Given the description of an element on the screen output the (x, y) to click on. 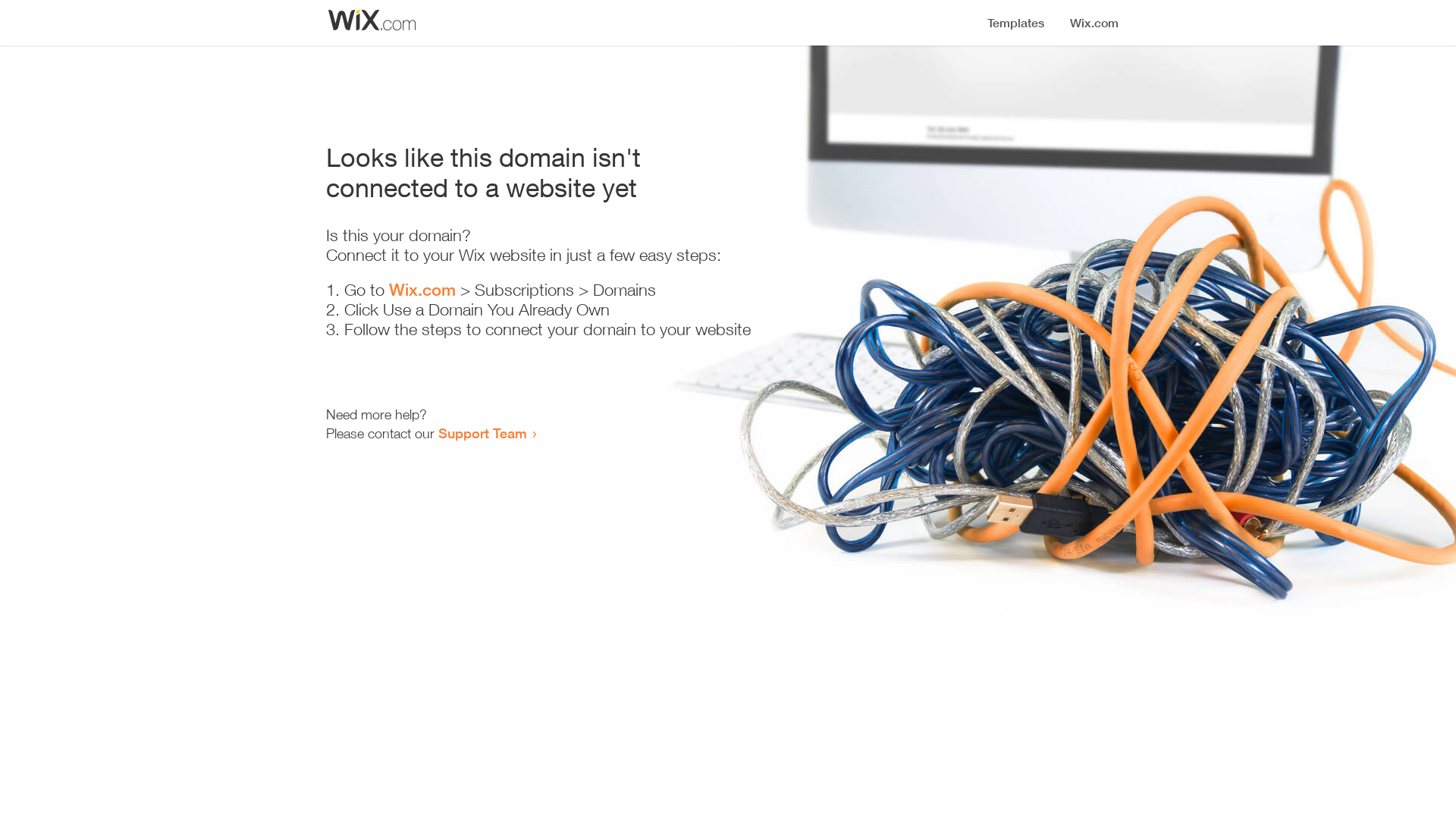
Support Team Element type: text (482, 432)
Wix.com Element type: text (422, 289)
